Given the description of an element on the screen output the (x, y) to click on. 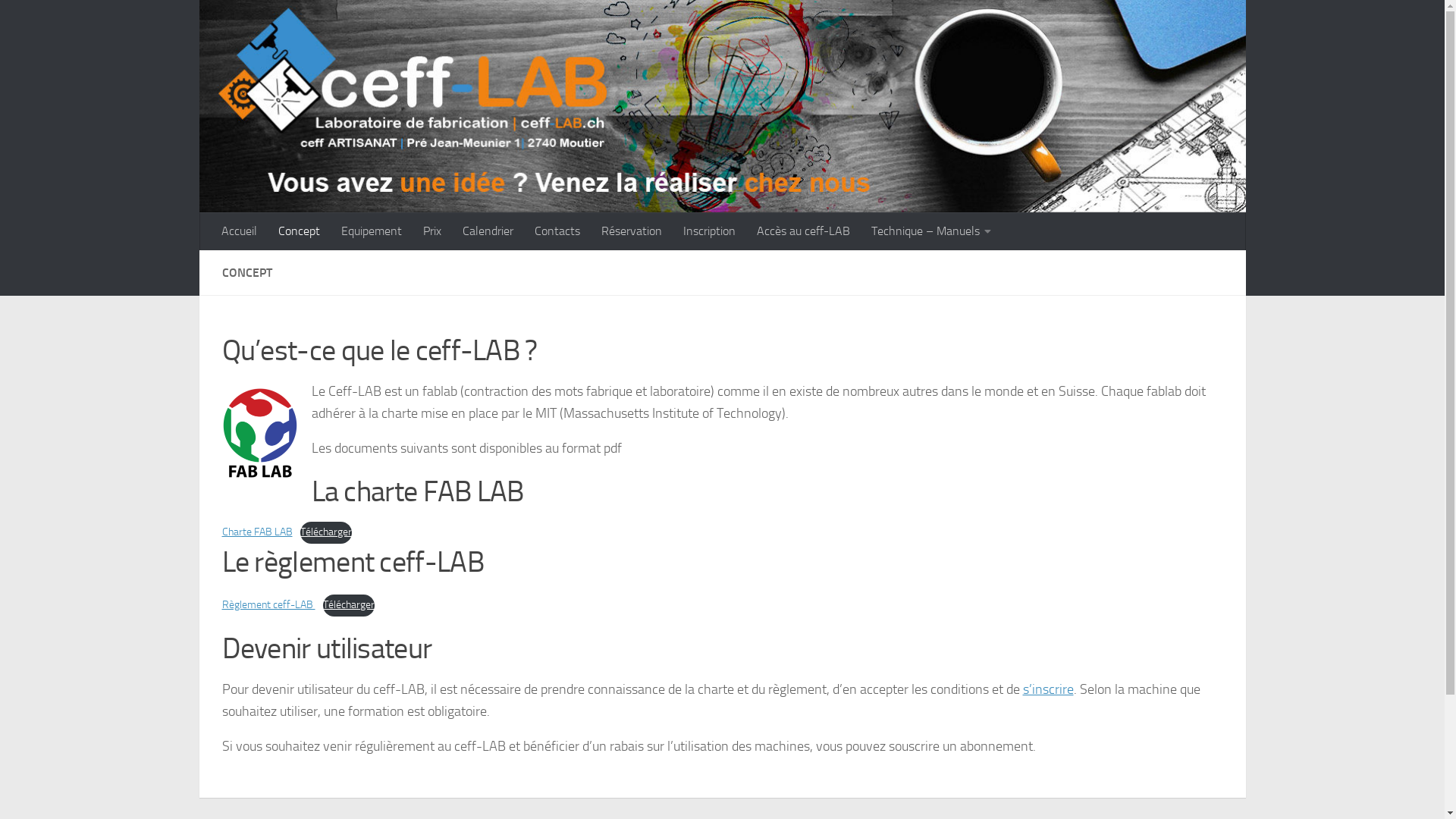
Concept Element type: text (297, 231)
Accueil Element type: text (238, 231)
Contacts Element type: text (556, 231)
Inscription Element type: text (708, 231)
Equipement Element type: text (371, 231)
Charte FAB LAB Element type: text (256, 531)
Skip to content Element type: text (60, 21)
Prix Element type: text (431, 231)
Calendrier Element type: text (487, 231)
